Given the description of an element on the screen output the (x, y) to click on. 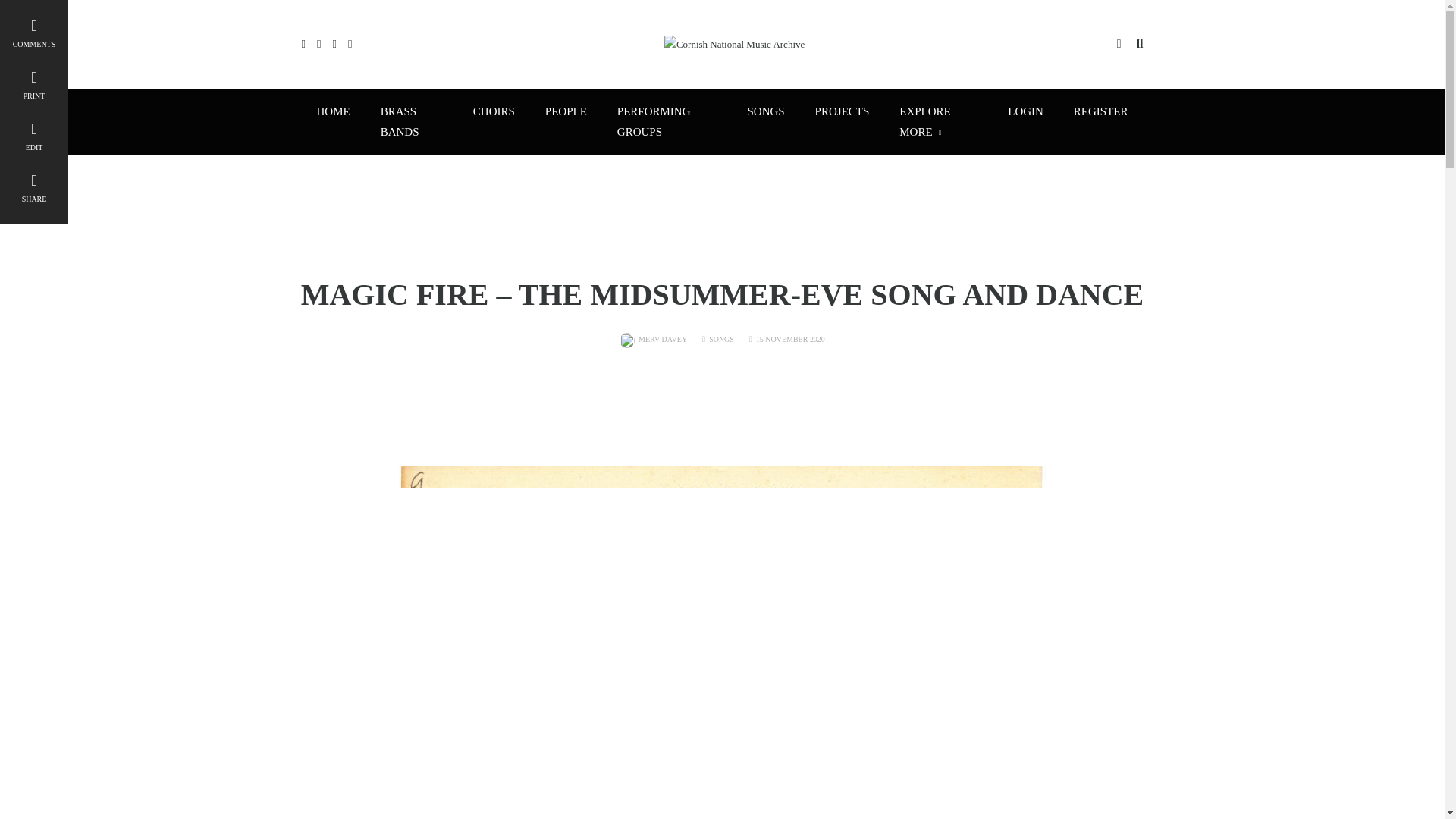
BRASS BANDS (411, 121)
SONGS (765, 111)
CHOIRS (493, 111)
PERFORMING GROUPS (667, 121)
PEOPLE (565, 111)
LOGIN (1025, 111)
HOME (333, 111)
REGISTER (1100, 111)
PROJECTS (842, 111)
Songs (721, 338)
Cornish National Music Archive (734, 43)
EXPLORE MORE (937, 121)
